Given the description of an element on the screen output the (x, y) to click on. 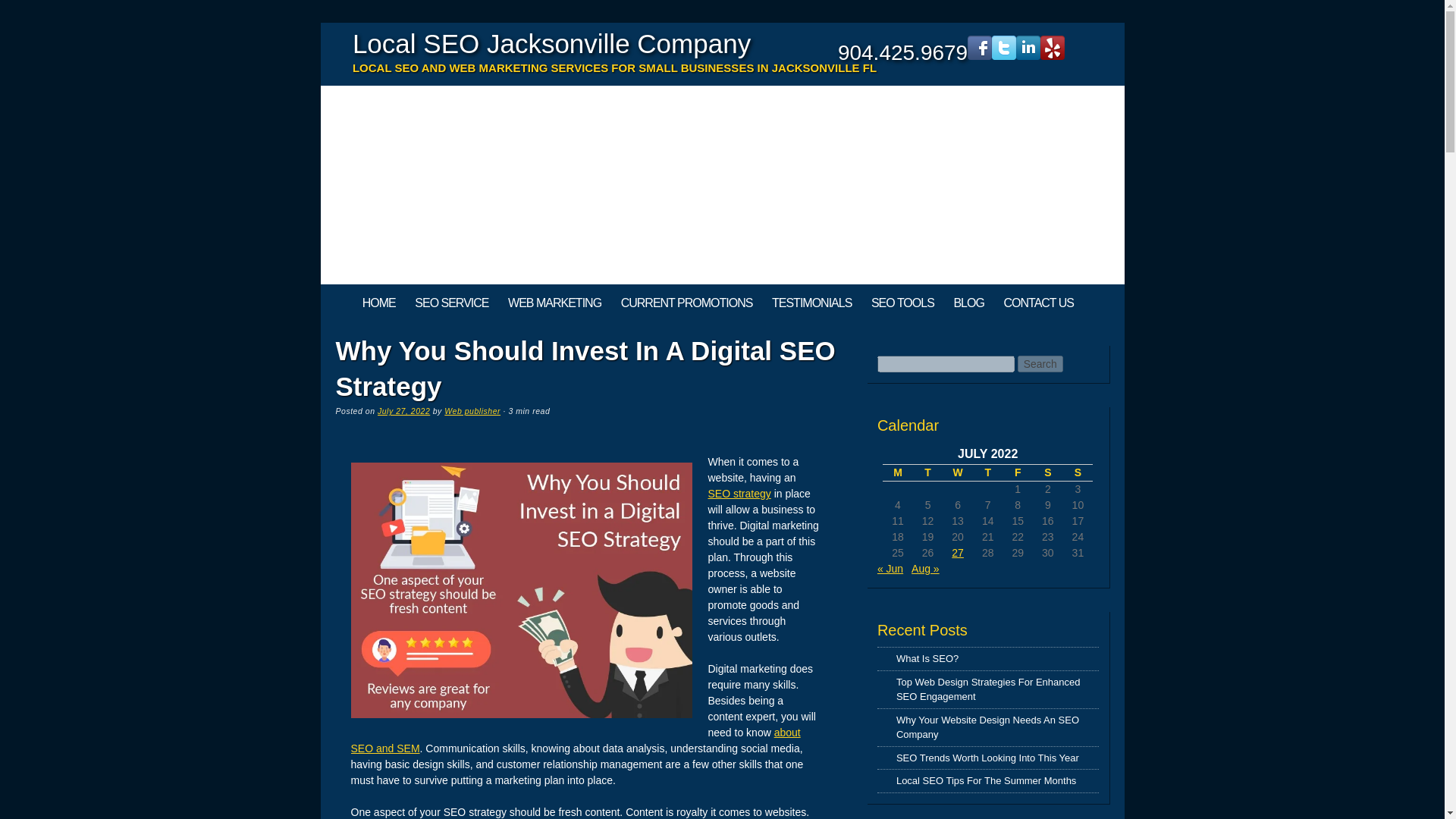
HOME (379, 303)
Local SEO Jacksonville Company (551, 43)
Search (1039, 363)
WEB MARKETING (554, 303)
SEO Jacksonville Company (379, 303)
SEO strategy (739, 493)
Monday (897, 473)
about SEO and SEM (574, 740)
CURRENT PROMOTIONS (686, 303)
SEO SERVICE (450, 303)
Local SEO Jacksonville Company (551, 43)
Why You Should Invest In A Digital SEO Strategy (520, 590)
CONTACT US (1038, 303)
Web publisher (472, 410)
View all posts by Web publisher (472, 410)
